Given the description of an element on the screen output the (x, y) to click on. 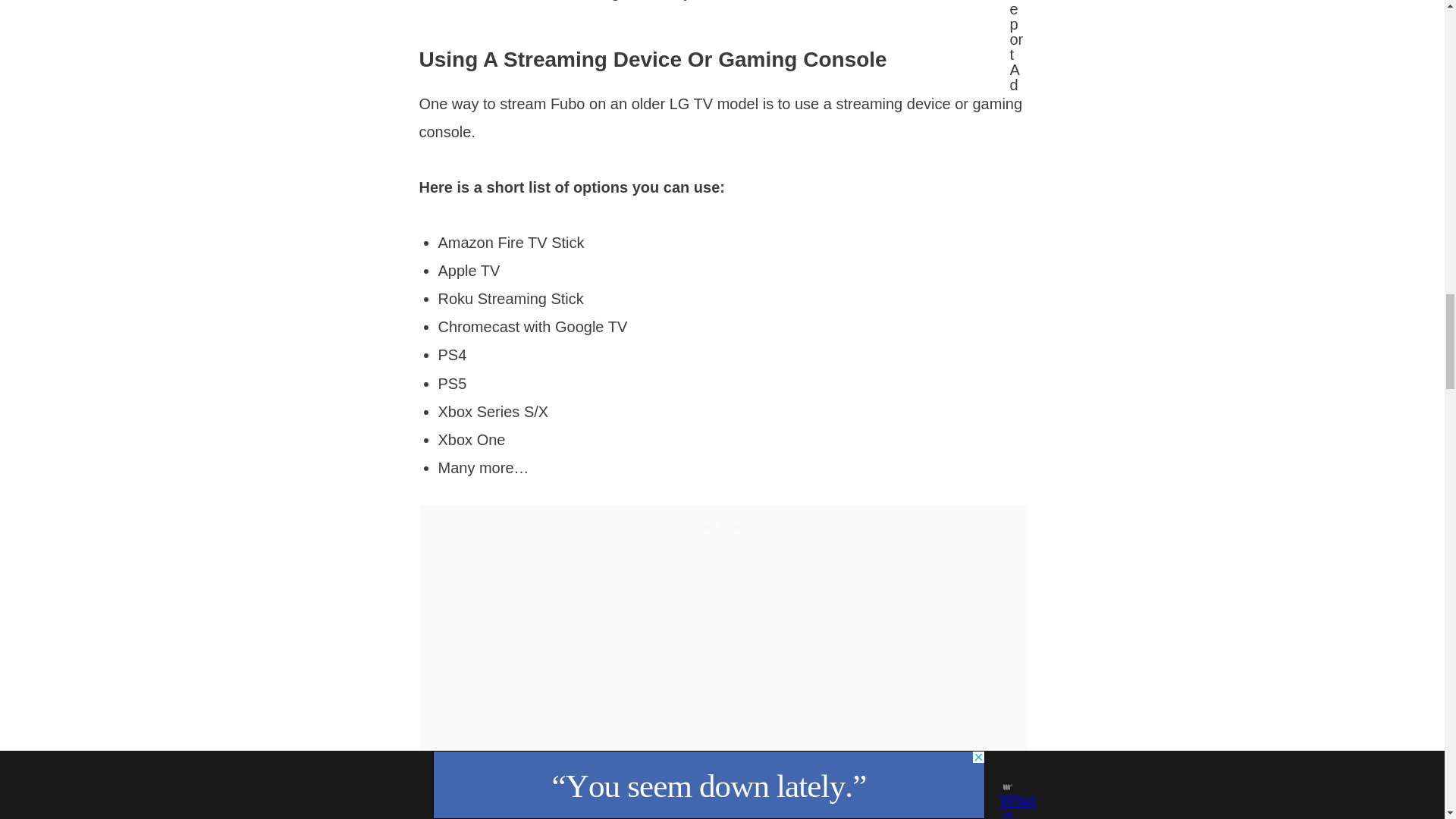
3rd party ad content (721, 523)
